Given the description of an element on the screen output the (x, y) to click on. 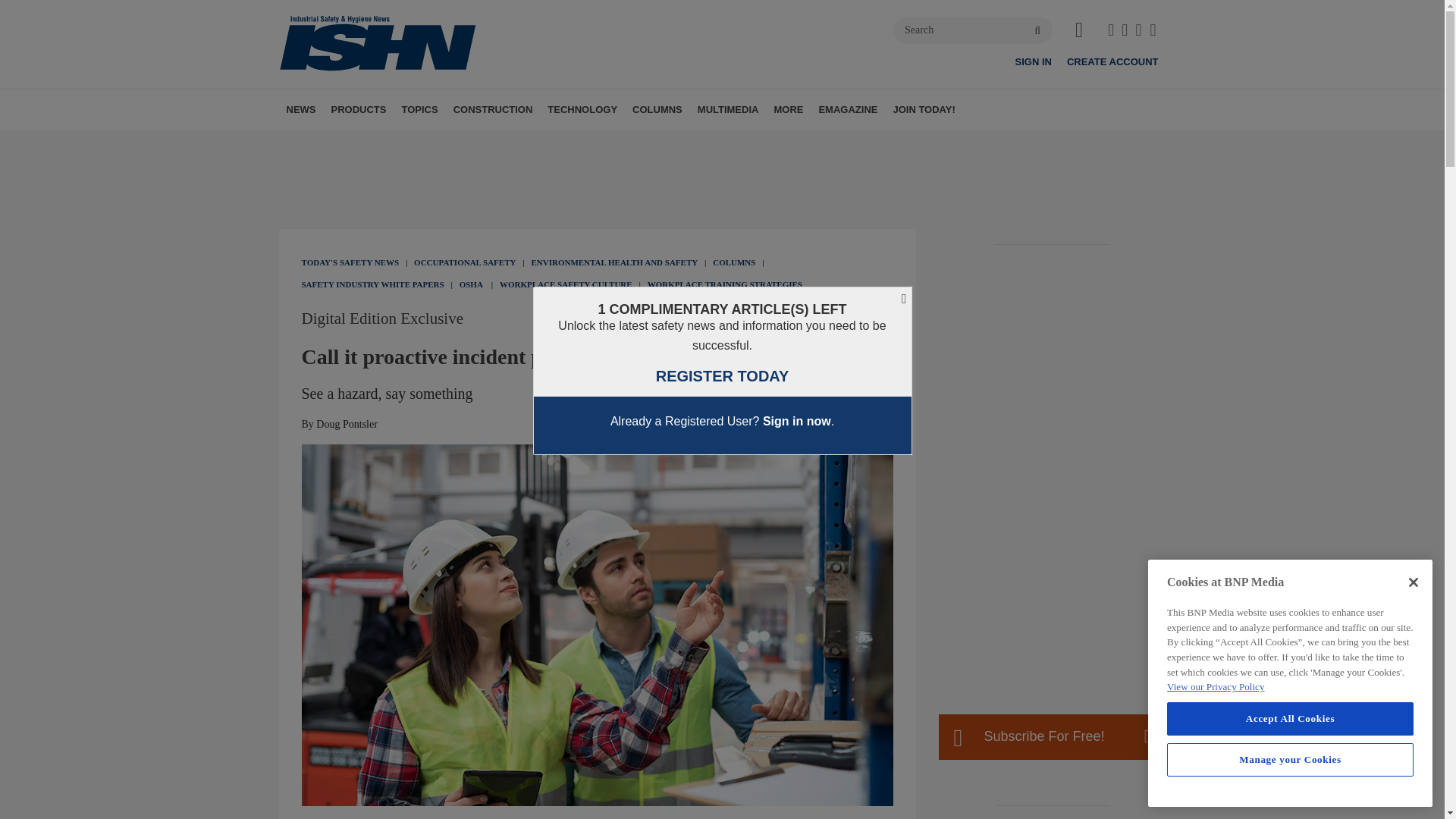
Search (972, 30)
Search (972, 30)
